Given the description of an element on the screen output the (x, y) to click on. 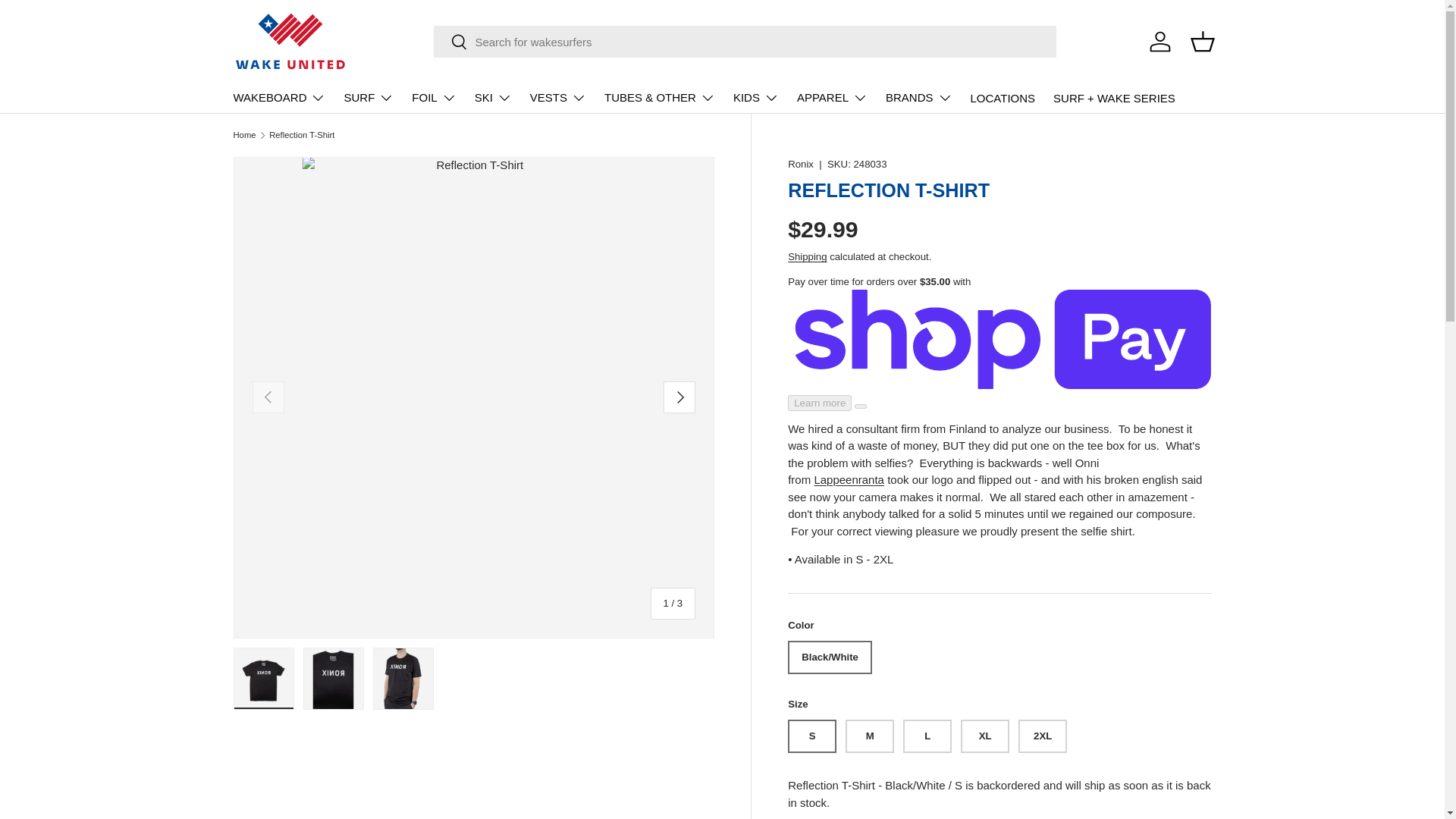
FOIL (433, 97)
Lappeenranta (848, 479)
Skip to content (69, 21)
SKI (493, 97)
Search (450, 42)
Log in (1159, 40)
